Given the description of an element on the screen output the (x, y) to click on. 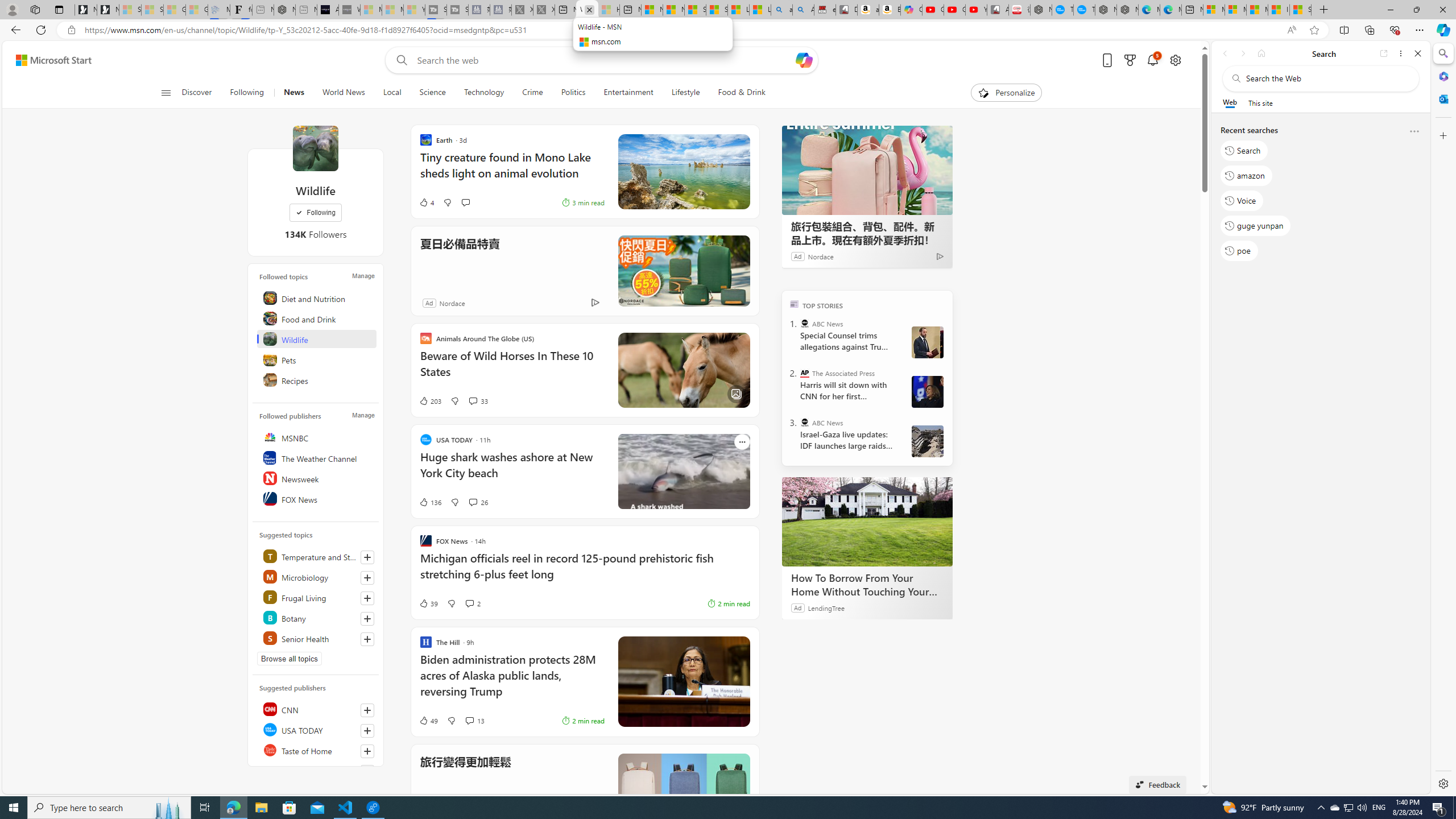
Forward (1242, 53)
Microsoft rewards (1129, 60)
NBC News (317, 770)
Nordace - My Account (1041, 9)
Pets (317, 359)
Voice (1241, 200)
Diet and Nutrition (317, 298)
Wildlife (314, 148)
How To Borrow From Your Home Without Touching Your Mortgage (866, 584)
